Given the description of an element on the screen output the (x, y) to click on. 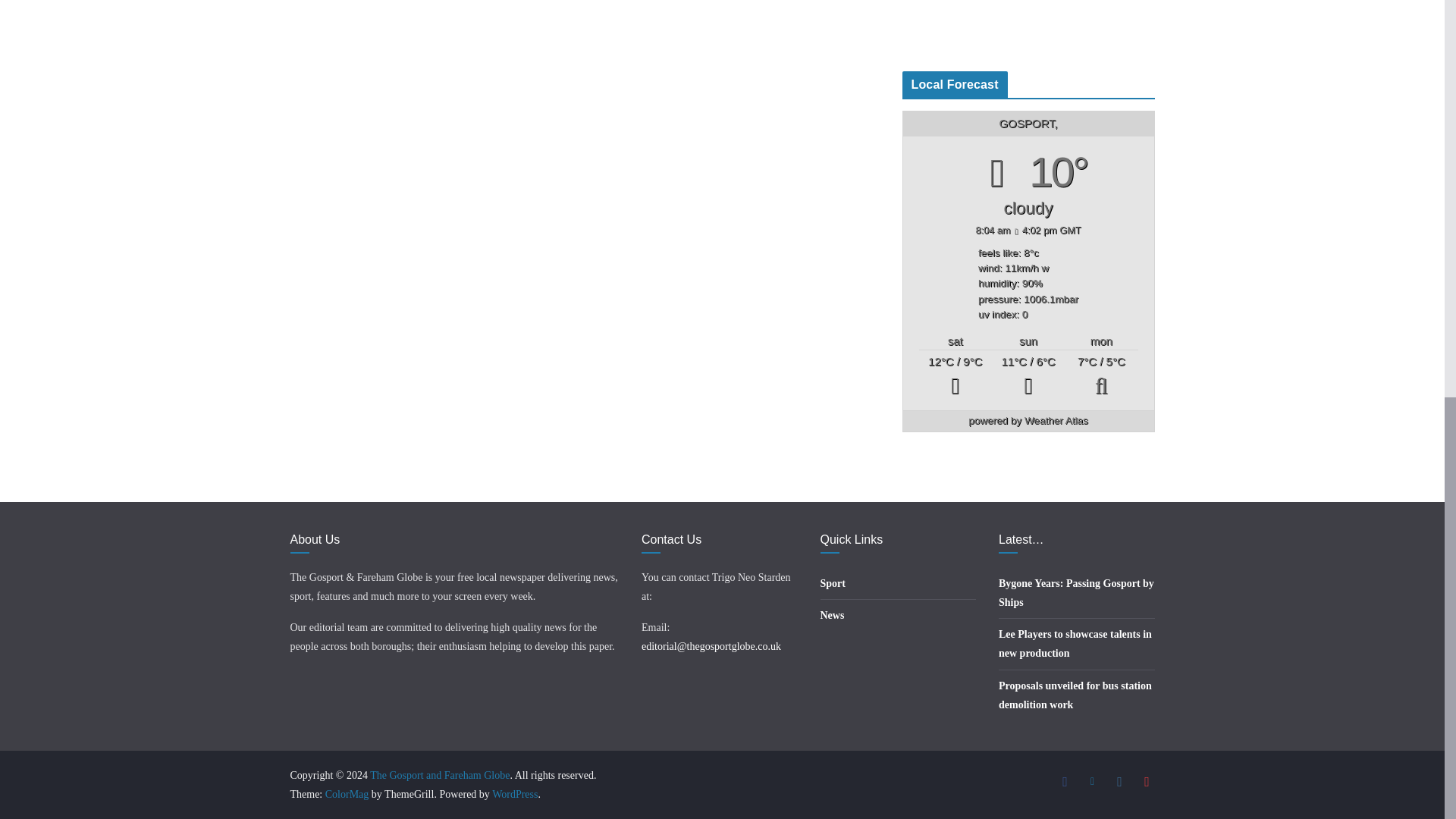
Showers (954, 376)
ColorMag (346, 794)
The Gosport and Fareham Globe (439, 775)
Showers (1027, 376)
WordPress (514, 794)
Partly Cloudy (1100, 376)
